Given the description of an element on the screen output the (x, y) to click on. 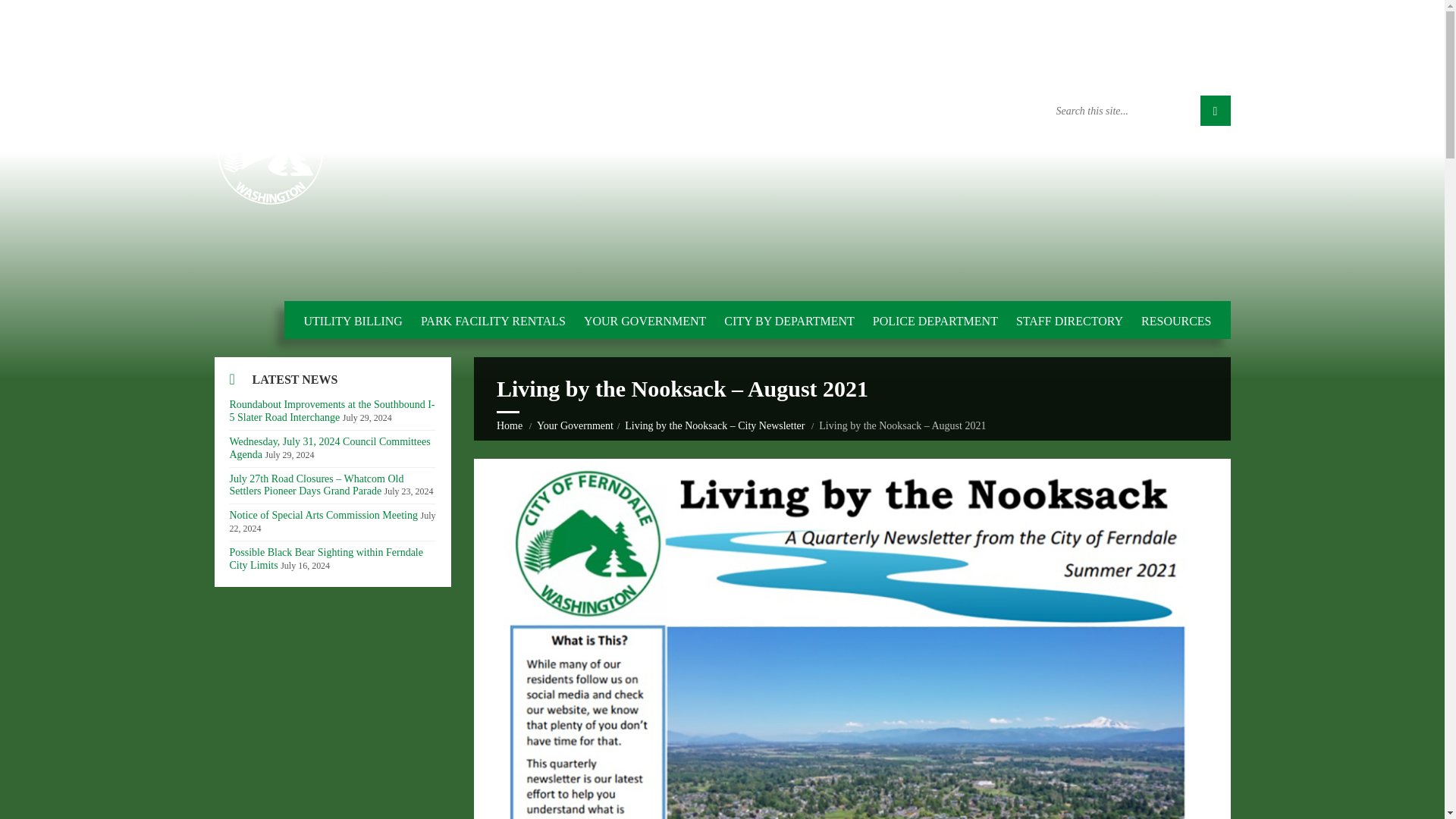
CITY BY DEPARTMENT (788, 321)
PARK FACILITY RENTALS (493, 321)
RESOURCES (1176, 321)
YOUR GOVERNMENT (644, 321)
UTILITY BILLING (352, 321)
STAFF DIRECTORY (1070, 321)
POLICE DEPARTMENT (935, 321)
